Given the description of an element on the screen output the (x, y) to click on. 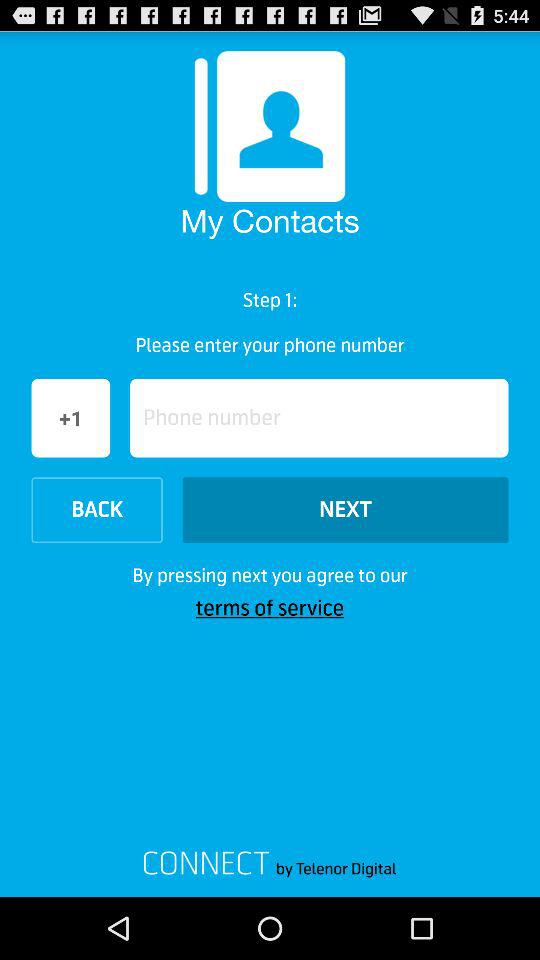
turn off the back icon (96, 510)
